Given the description of an element on the screen output the (x, y) to click on. 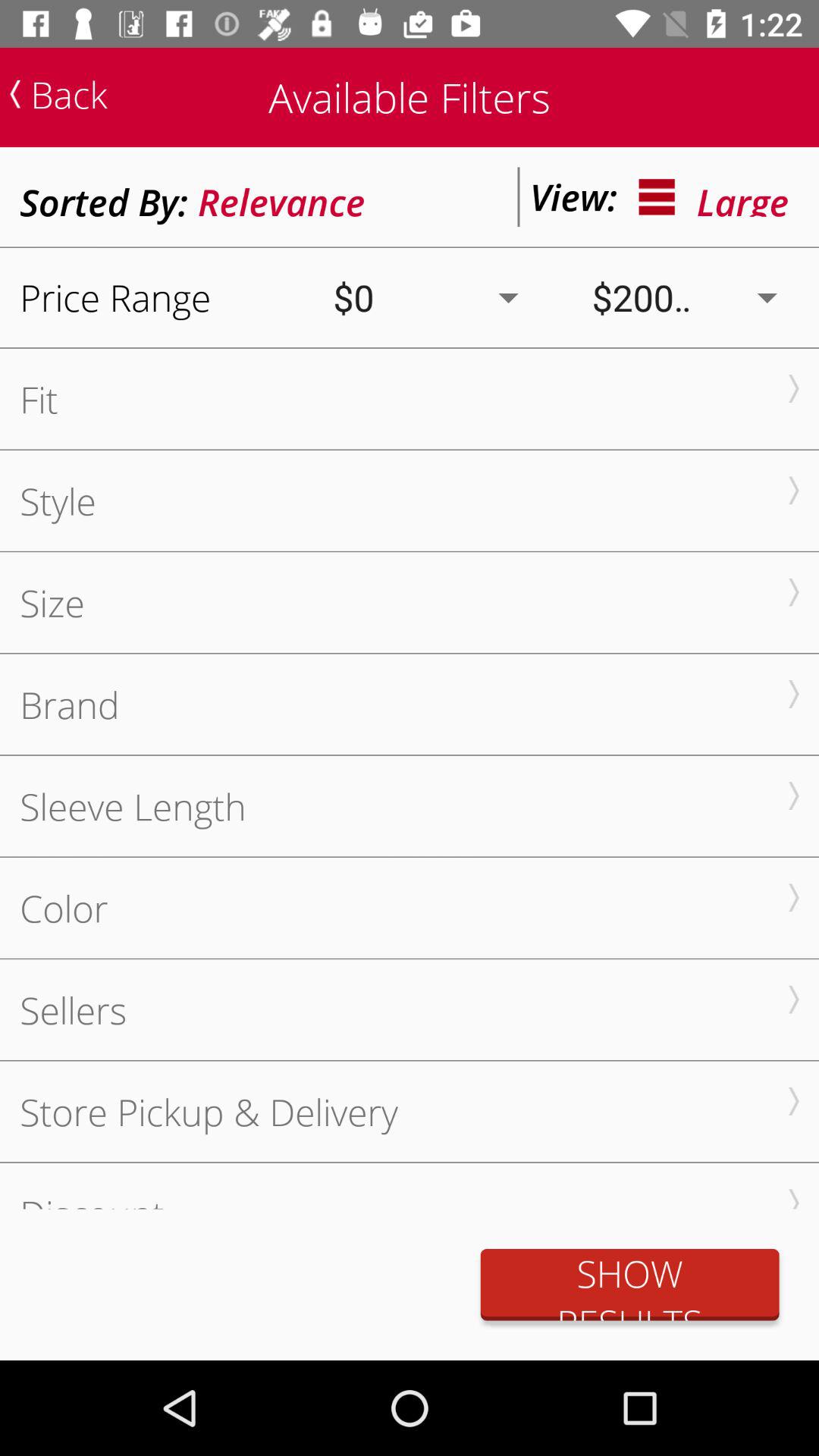
open icon below available filters icon (281, 196)
